Given the description of an element on the screen output the (x, y) to click on. 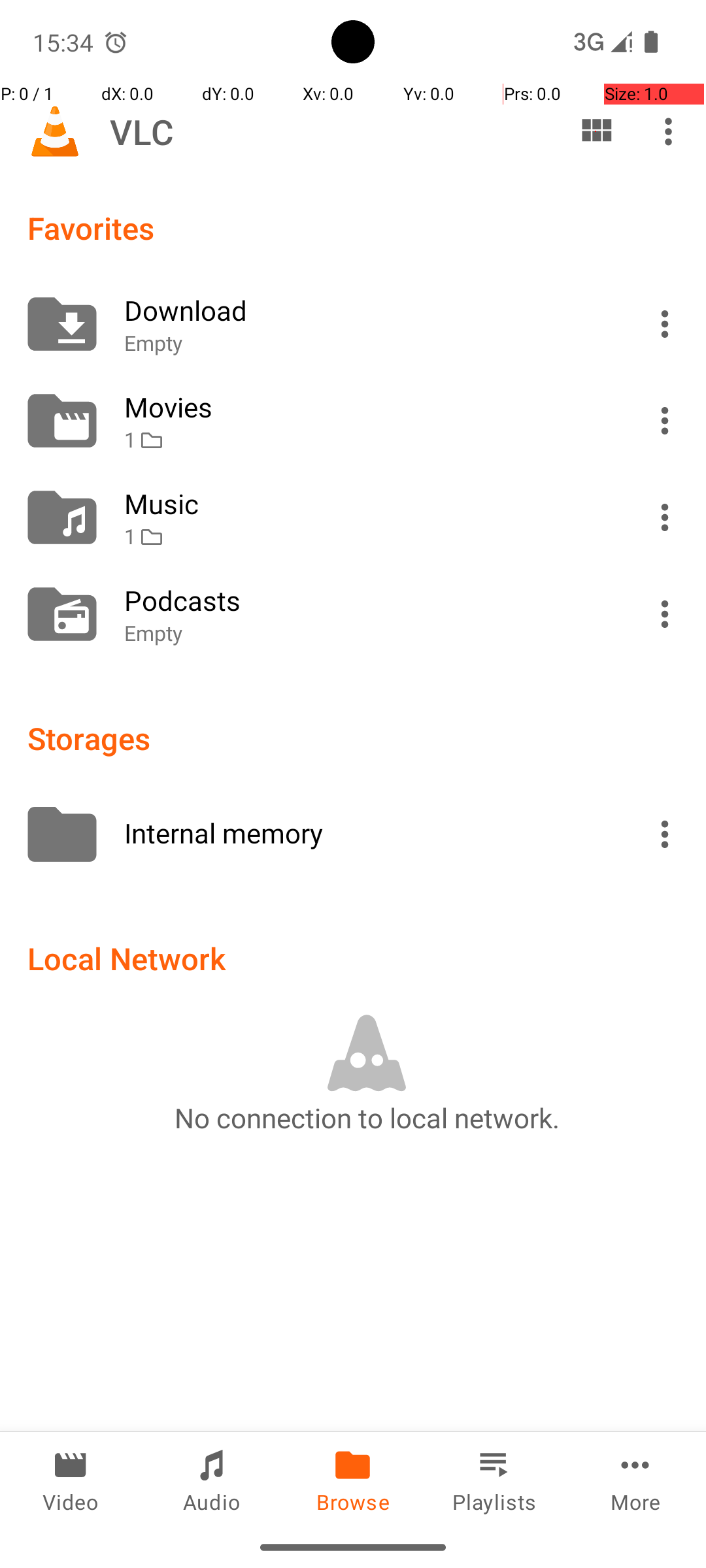
Display in grid Element type: android.widget.TextView (595, 131)
Favorite: Podcasts, Empty Element type: android.view.ViewGroup (353, 613)
Folder: Internal memory, Empty Element type: android.view.ViewGroup (353, 833)
